Given the description of an element on the screen output the (x, y) to click on. 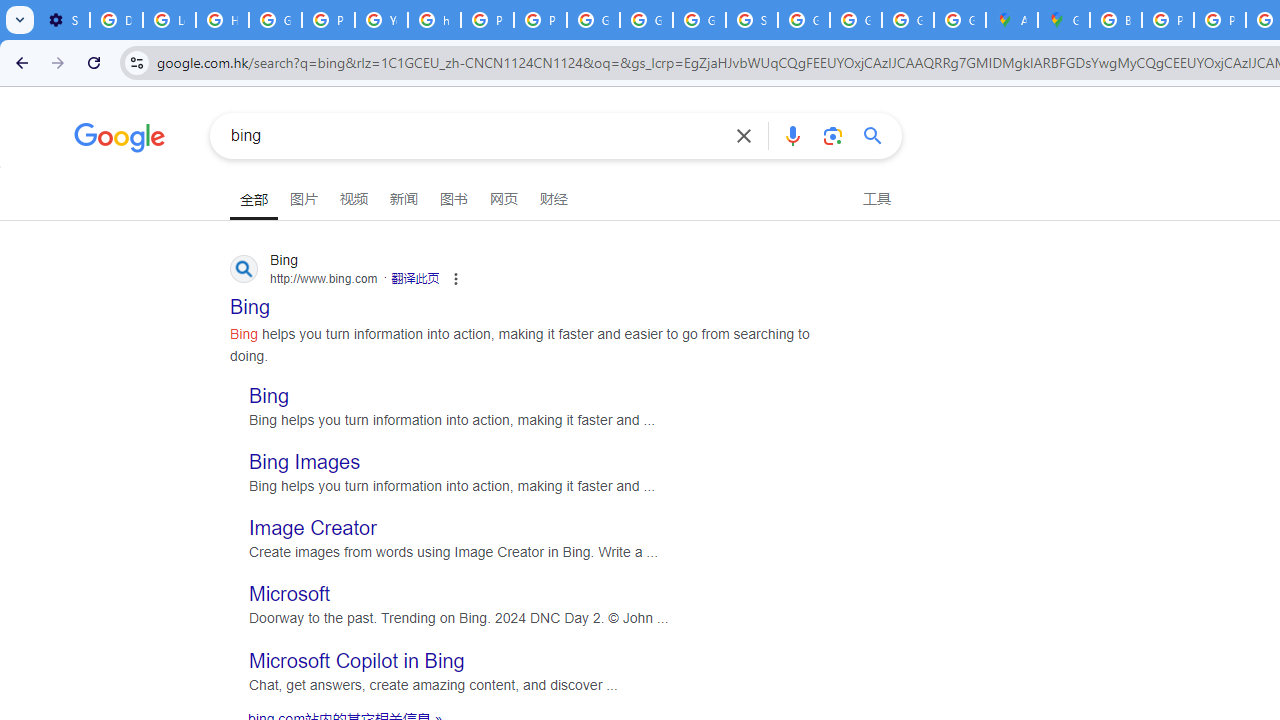
Bing Images (304, 461)
Privacy Help Center - Policies Help (328, 20)
Sign in - Google Accounts (751, 20)
Learn how to find your photos - Google Photos Help (169, 20)
